Given the description of an element on the screen output the (x, y) to click on. 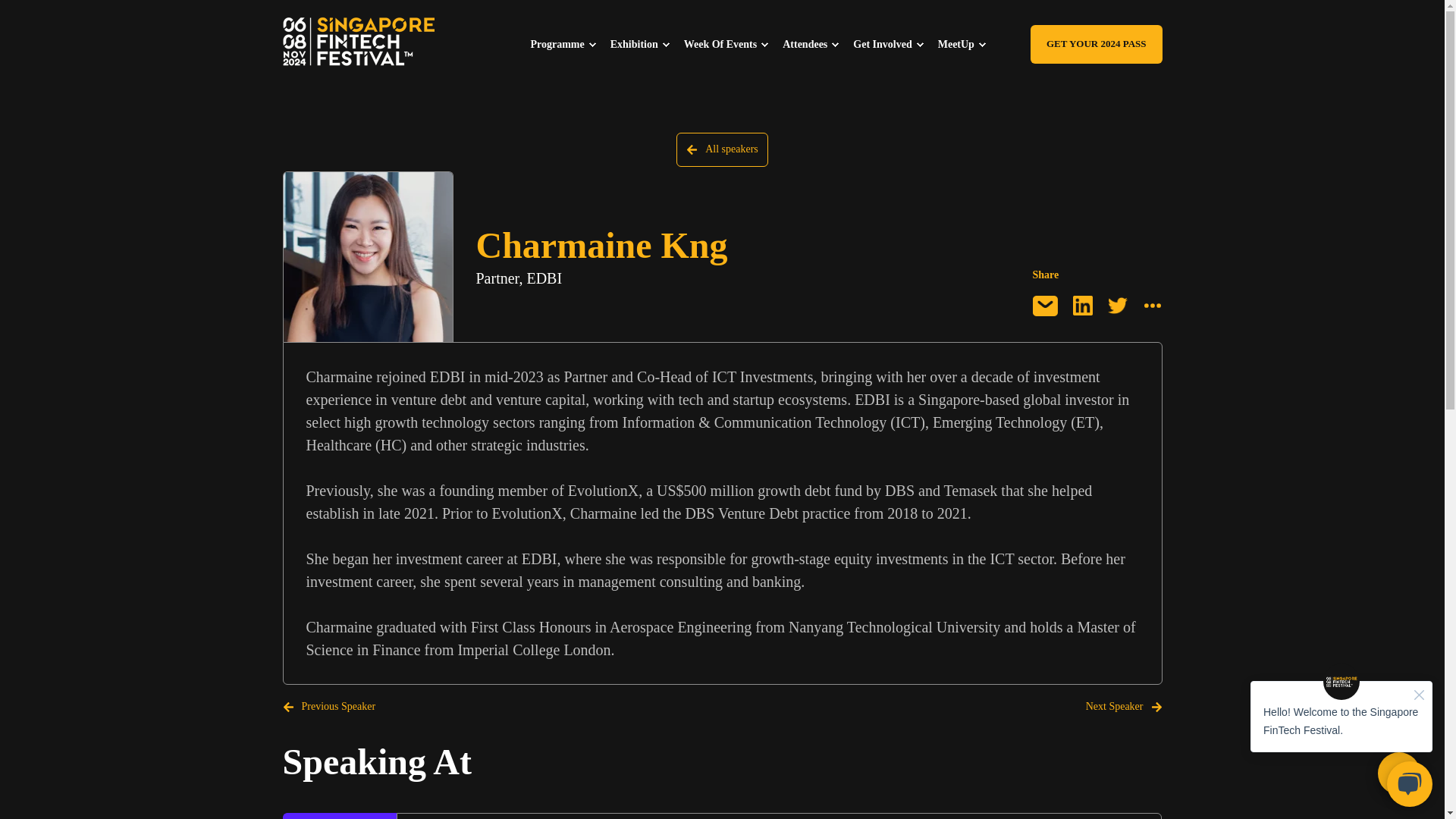
Attendees (818, 43)
MeetUp (968, 43)
Exhibition (647, 43)
GET YOUR 2024 PASS (1095, 44)
Week Of Events (733, 43)
Get Involved (895, 43)
Programme (569, 43)
